Given the description of an element on the screen output the (x, y) to click on. 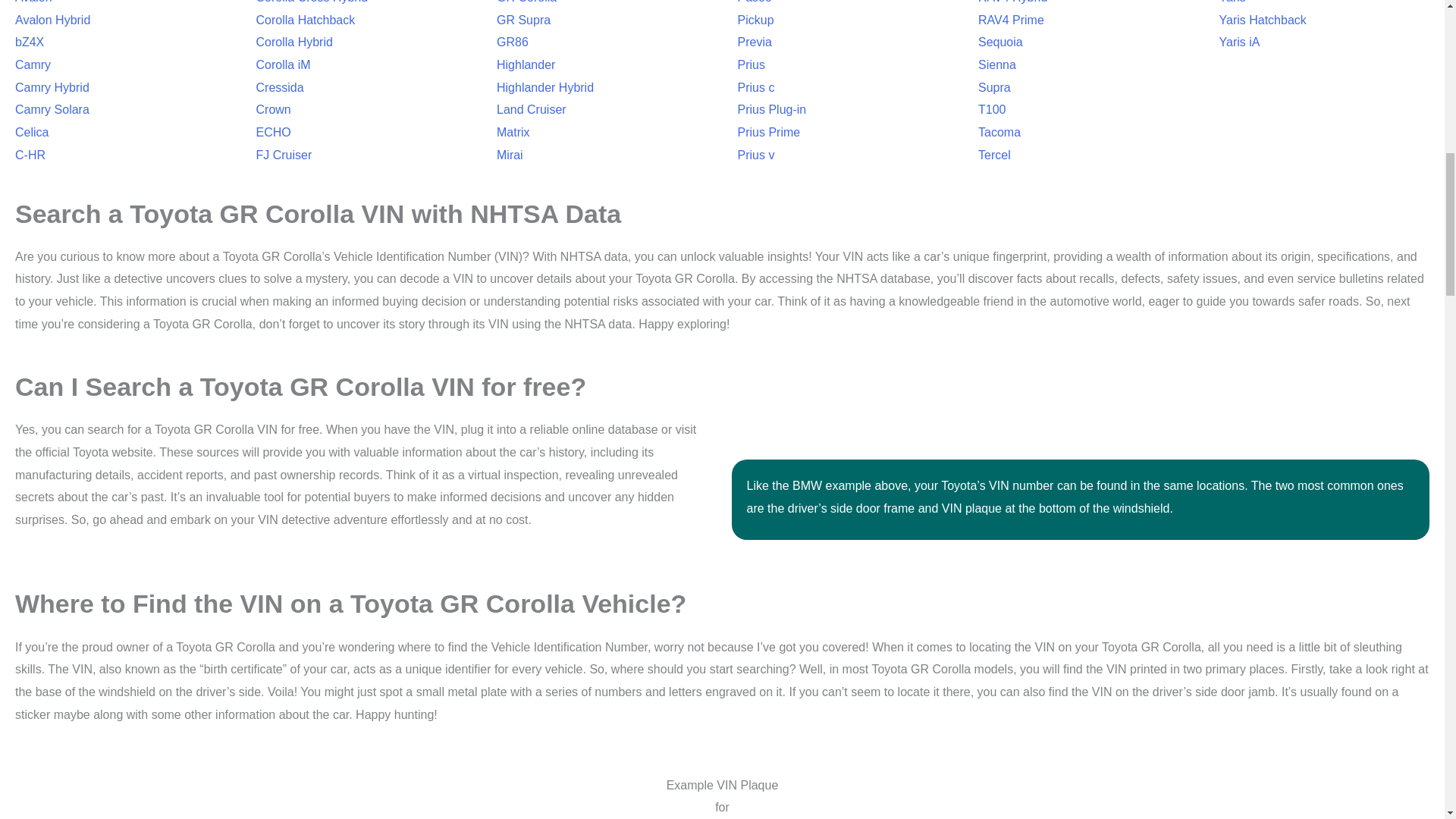
Corolla Cross Hybrid (312, 2)
Corolla iM (283, 64)
ECHO (273, 132)
Avalon (33, 2)
Avalon Hybrid (52, 19)
Celica (31, 132)
bZ4X (28, 42)
Crown (273, 109)
Camry Hybrid (51, 87)
Corolla Hybrid (294, 42)
